Given the description of an element on the screen output the (x, y) to click on. 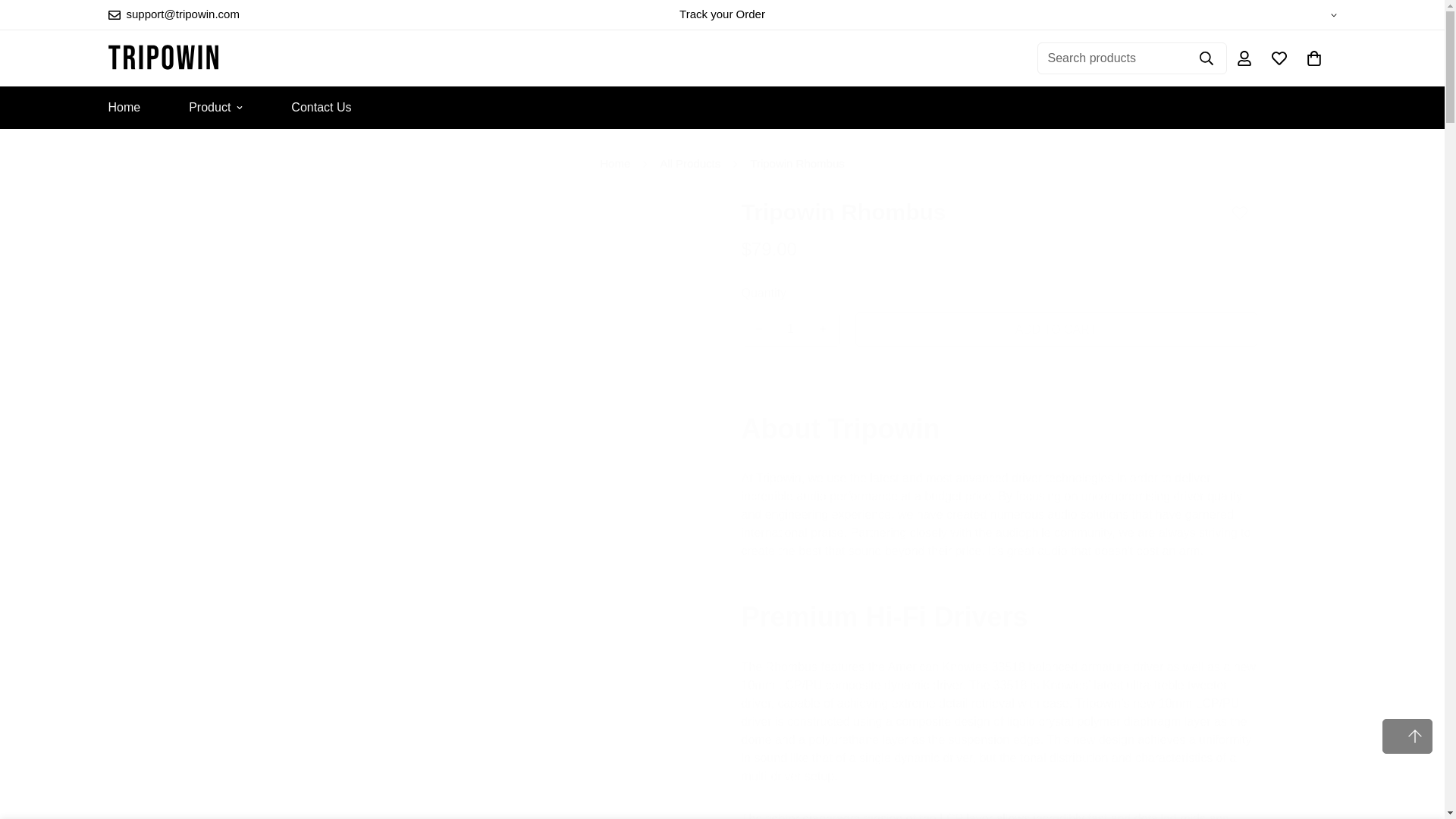
Contact Us (320, 107)
Back to the home page (615, 164)
Product (215, 107)
1 (789, 328)
Tripowin (161, 57)
Home (615, 164)
Track your Order (722, 13)
All Products (689, 164)
Home (123, 107)
